Given the description of an element on the screen output the (x, y) to click on. 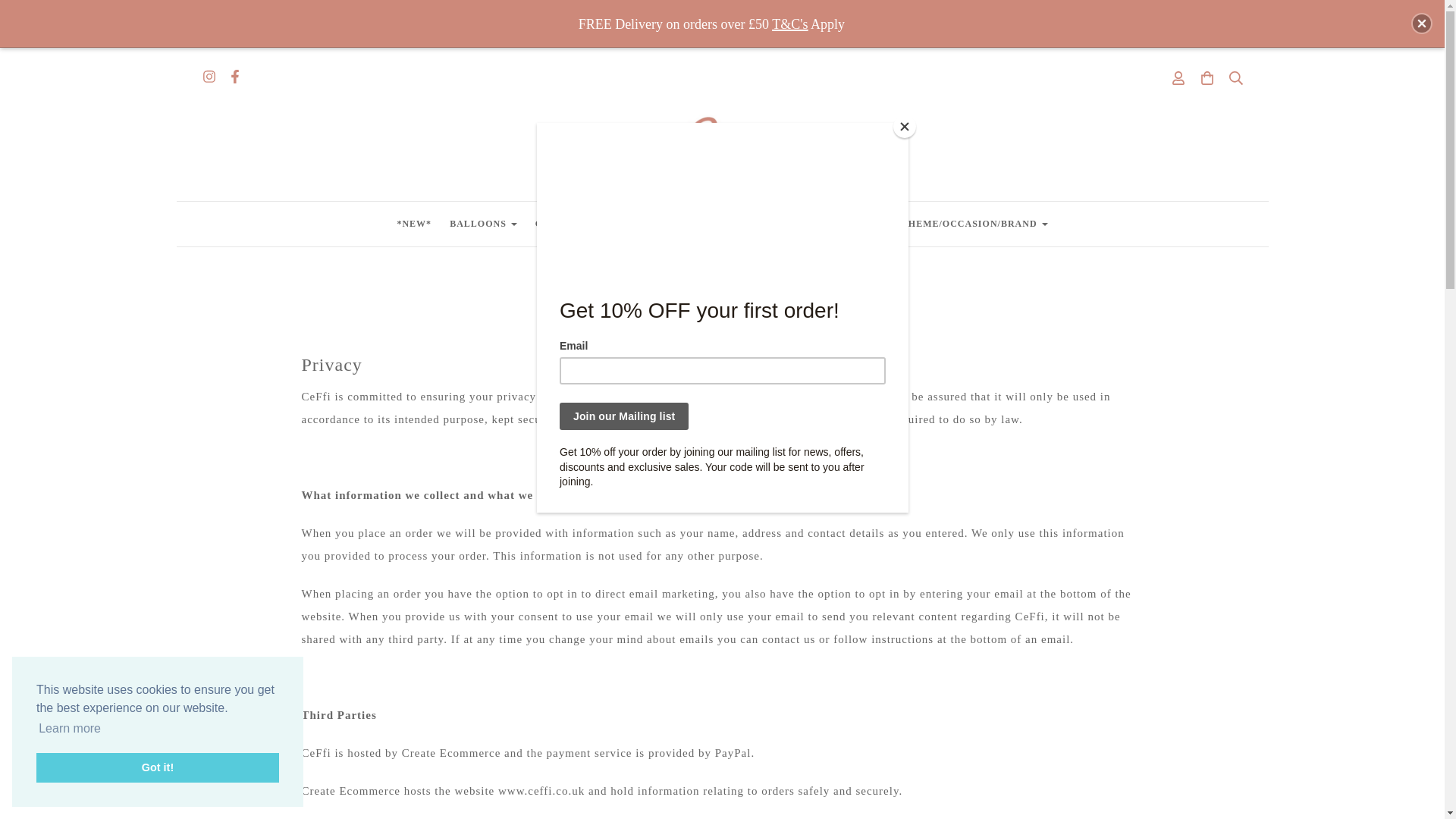
CARDS (557, 224)
facebook (234, 78)
Learn more (69, 728)
BALLOONS (483, 224)
instagram (208, 78)
Close (1421, 23)
Got it! (157, 767)
